Given the description of an element on the screen output the (x, y) to click on. 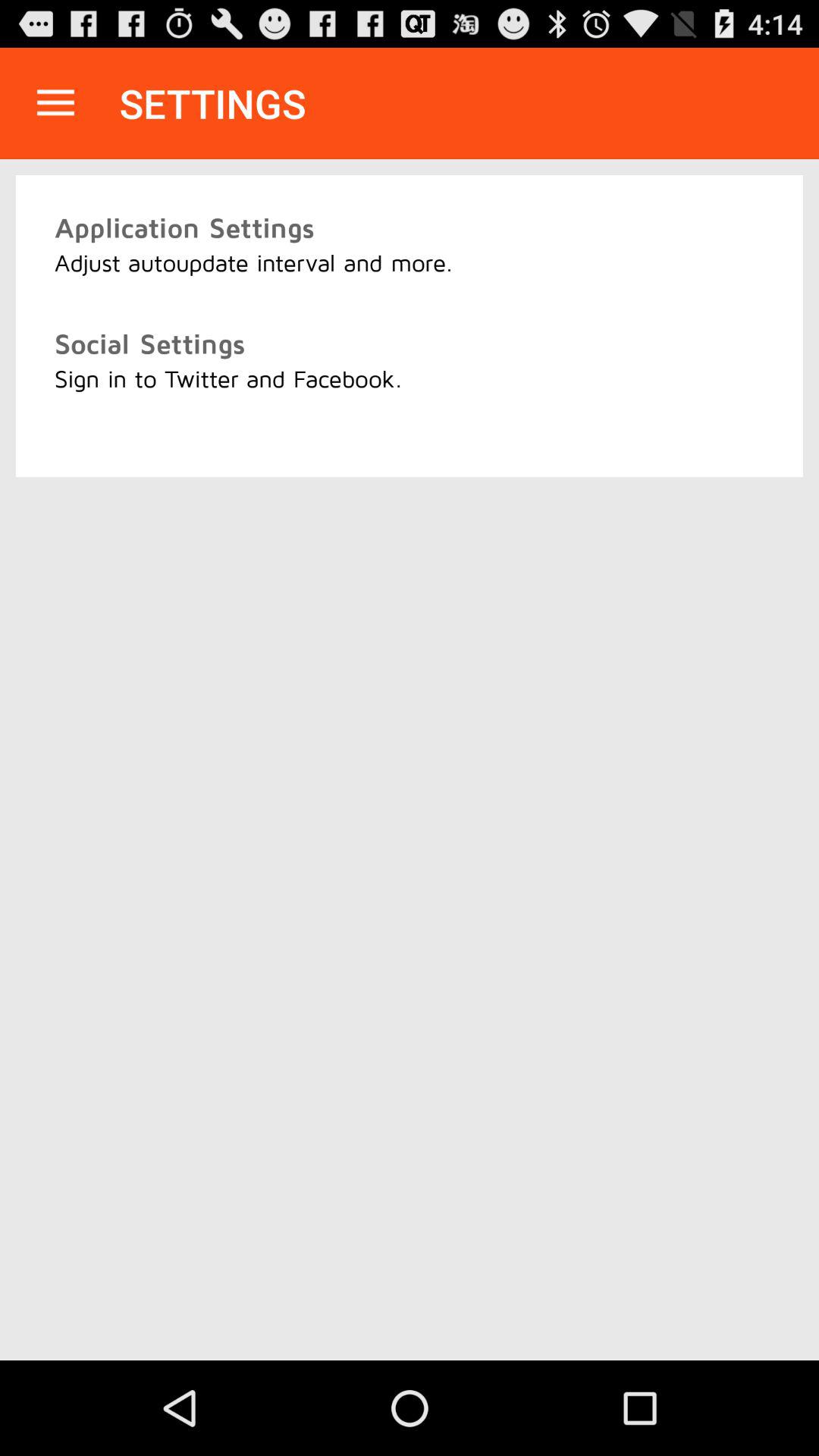
choose the icon above application settings icon (55, 103)
